Given the description of an element on the screen output the (x, y) to click on. 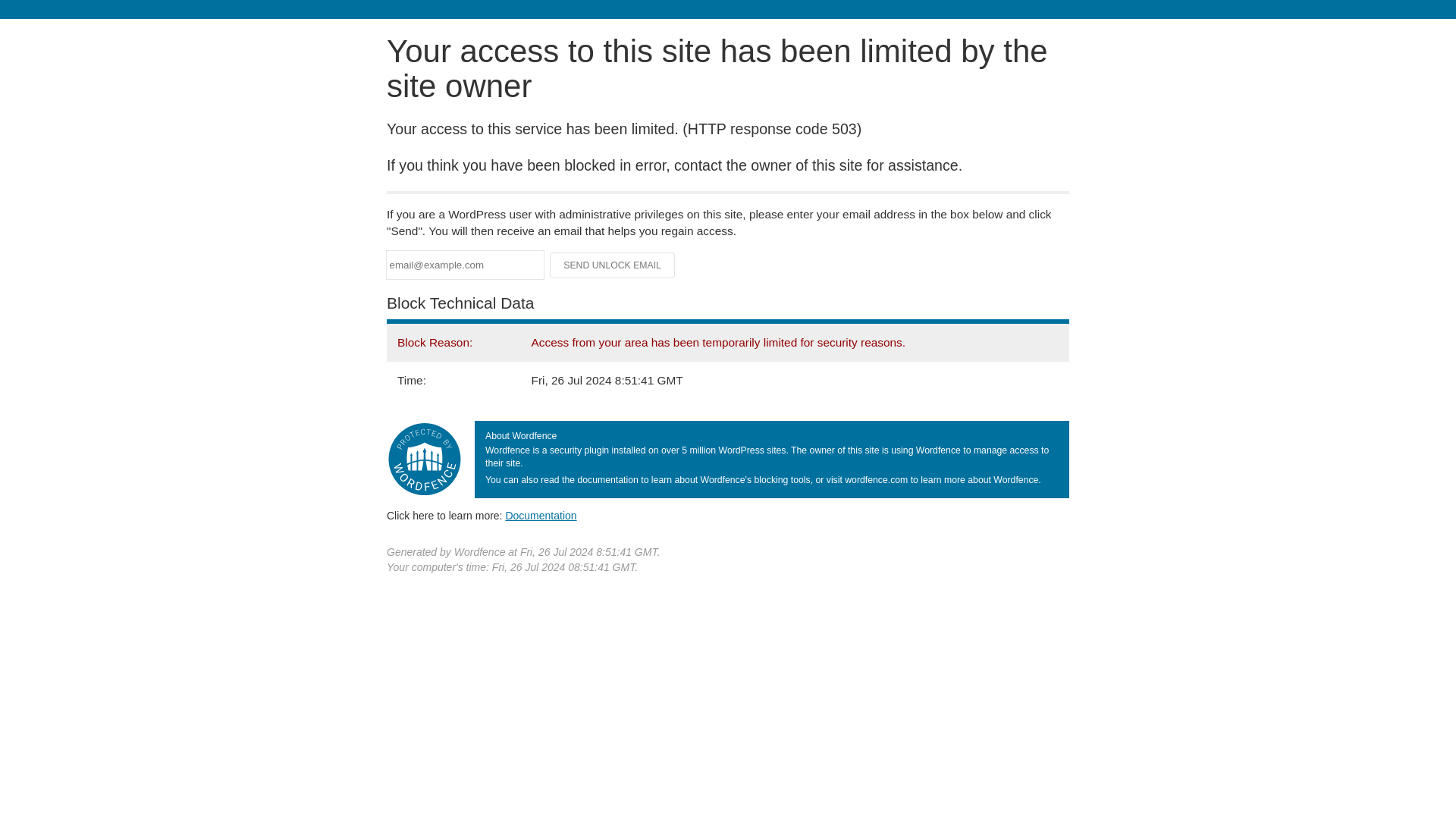
Documentation (540, 515)
Send Unlock Email (612, 265)
Send Unlock Email (612, 265)
